Given the description of an element on the screen output the (x, y) to click on. 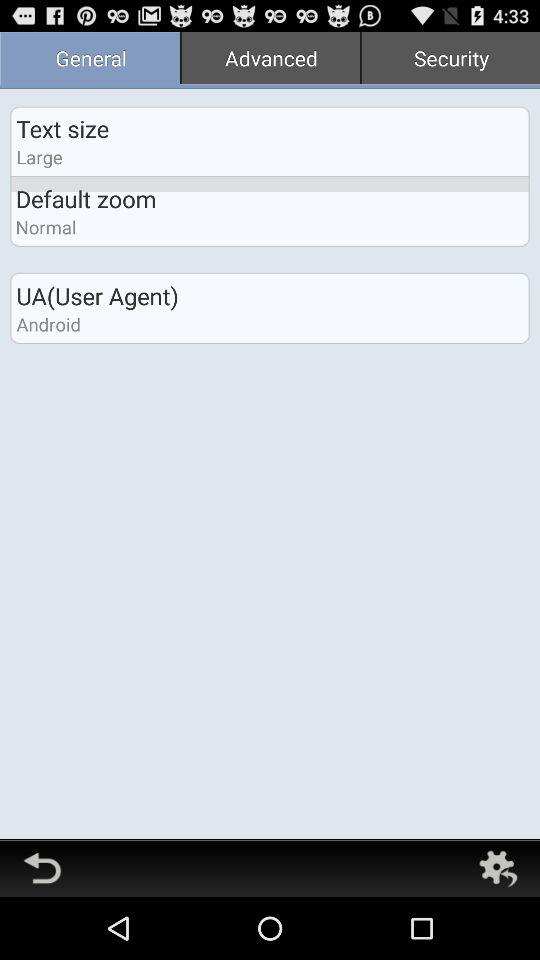
tap the app next to the advanced item (90, 60)
